Given the description of an element on the screen output the (x, y) to click on. 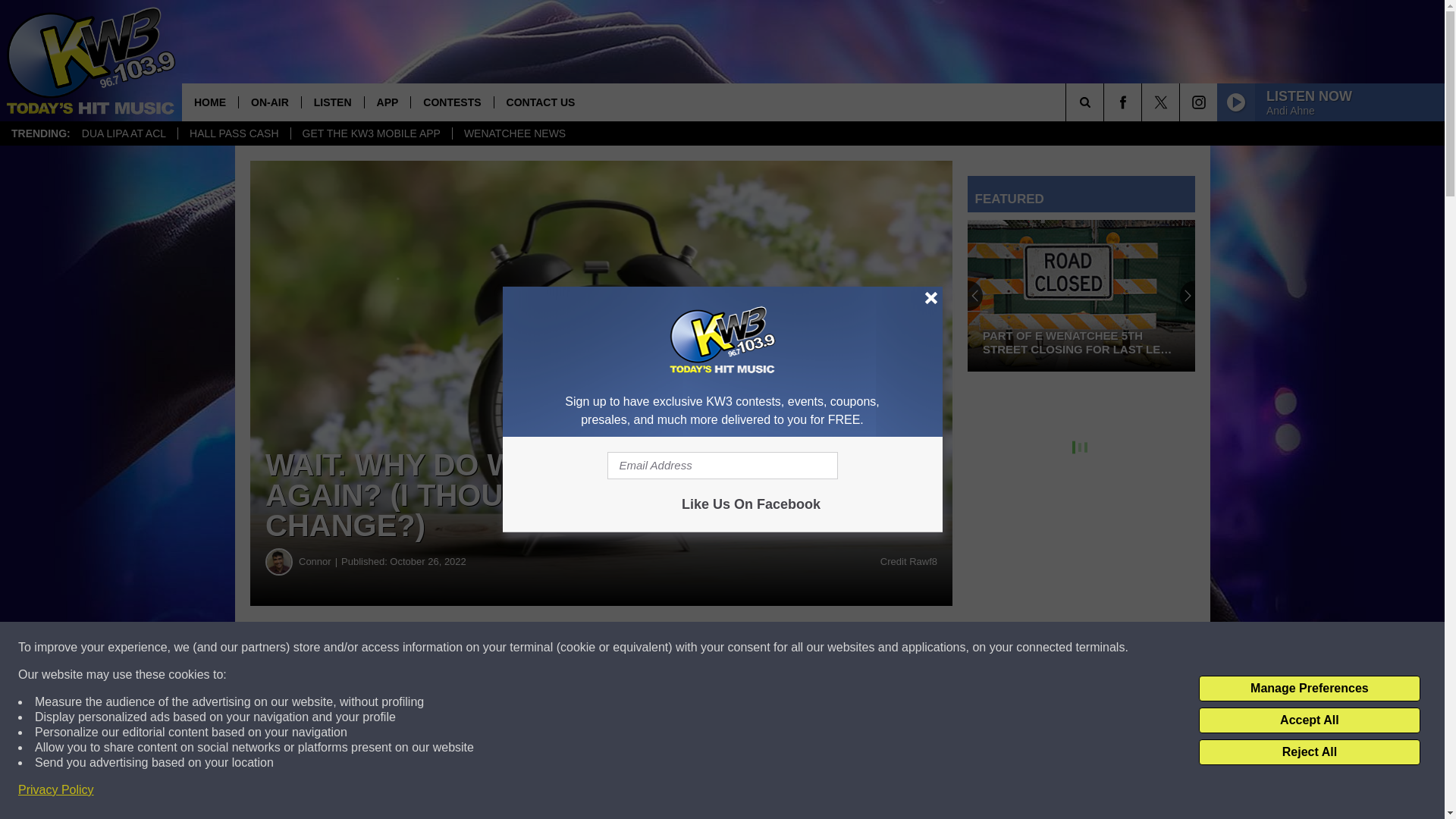
Reject All (1309, 751)
CONTESTS (451, 102)
Accept All (1309, 720)
Manage Preferences (1309, 688)
SEARCH (1106, 102)
Share on Facebook (460, 647)
WENATCHEE NEWS (513, 133)
LISTEN (332, 102)
SEARCH (1106, 102)
Share on Twitter (741, 647)
HOME (210, 102)
HALL PASS CASH (233, 133)
CONTACT US (540, 102)
Privacy Policy (55, 789)
DUA LIPA AT ACL (123, 133)
